Given the description of an element on the screen output the (x, y) to click on. 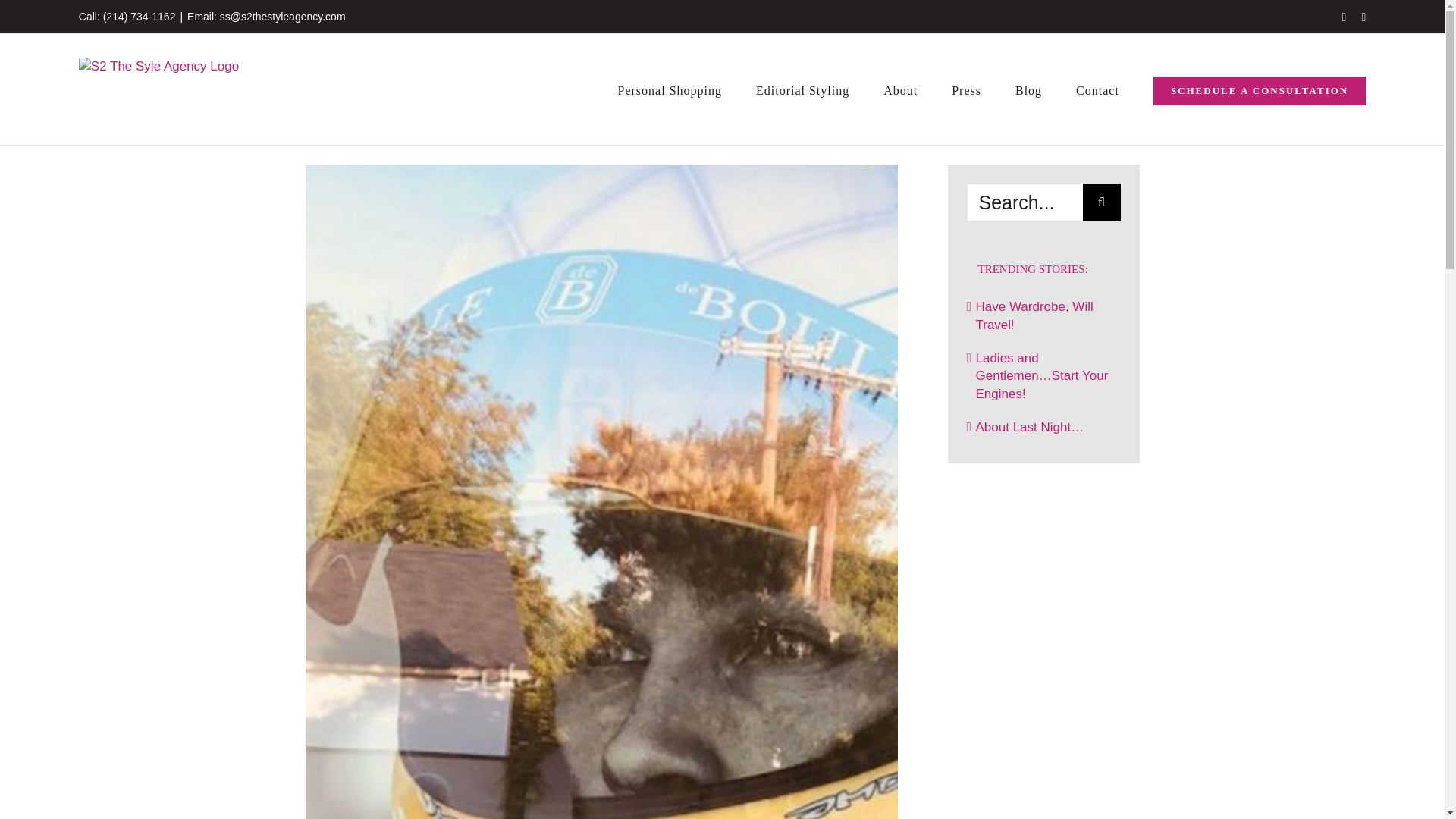
Personal Shopping (669, 89)
SCHEDULE A CONSULTATION (1259, 89)
